Given the description of an element on the screen output the (x, y) to click on. 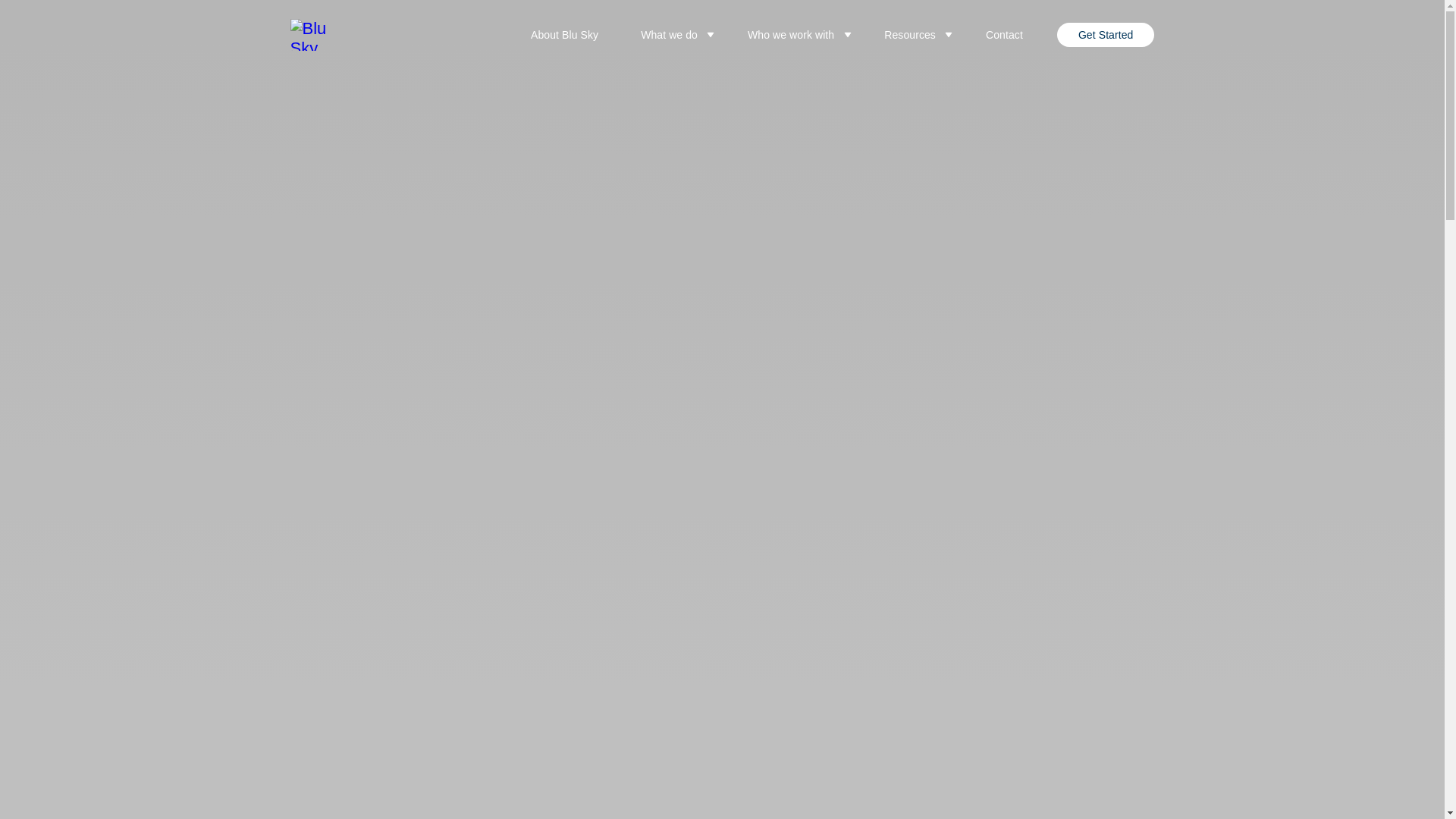
About Blu Sky (564, 34)
What we do (672, 34)
Contact (1004, 34)
Who we work with (794, 34)
Resources (913, 34)
Get Started (1105, 34)
